Given the description of an element on the screen output the (x, y) to click on. 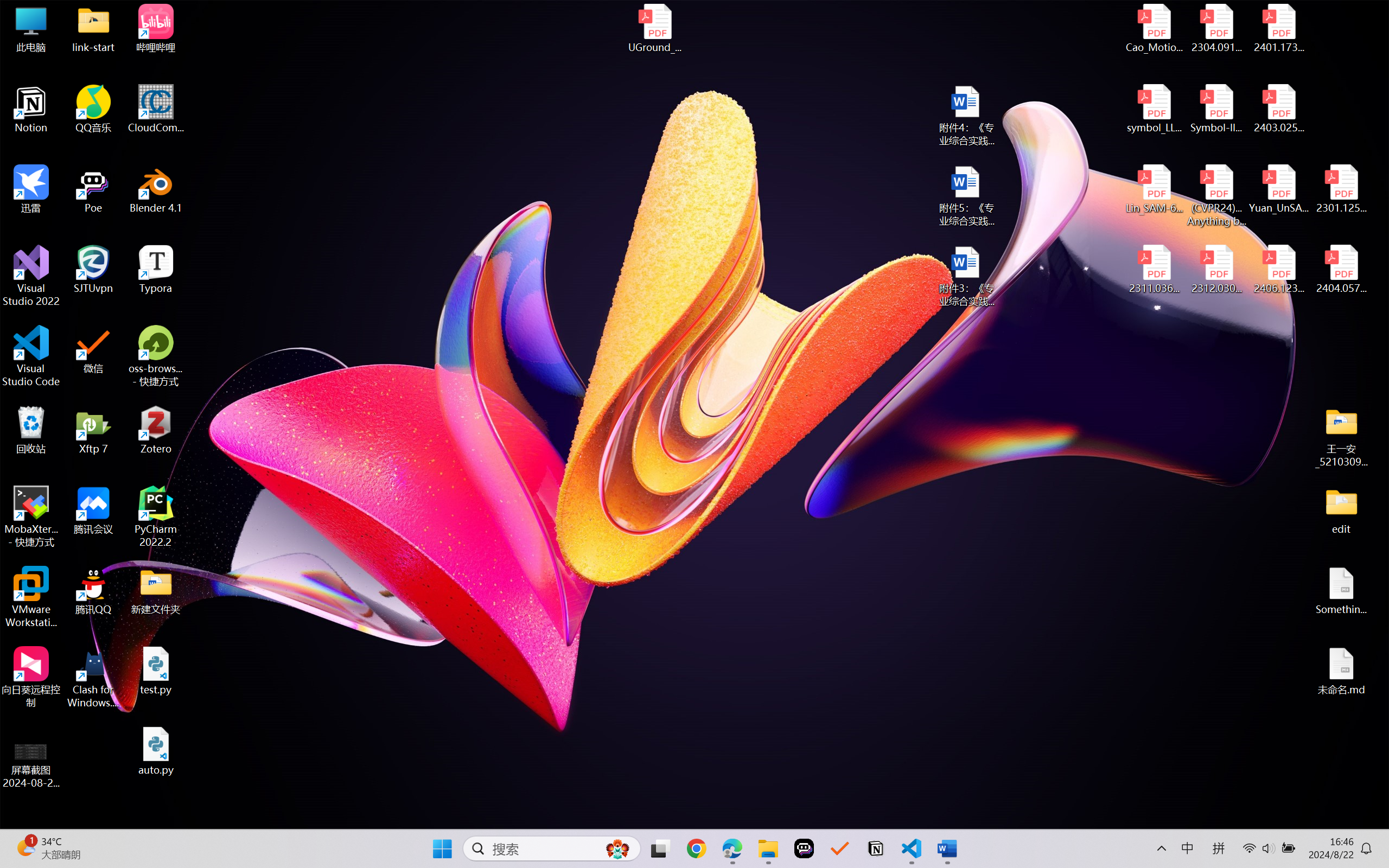
Visual Studio 2022 (31, 276)
auto.py (156, 751)
Something.md (1340, 591)
PyCharm 2022.2 (156, 516)
edit (1340, 510)
symbol_LLM.pdf (1154, 109)
